Given the description of an element on the screen output the (x, y) to click on. 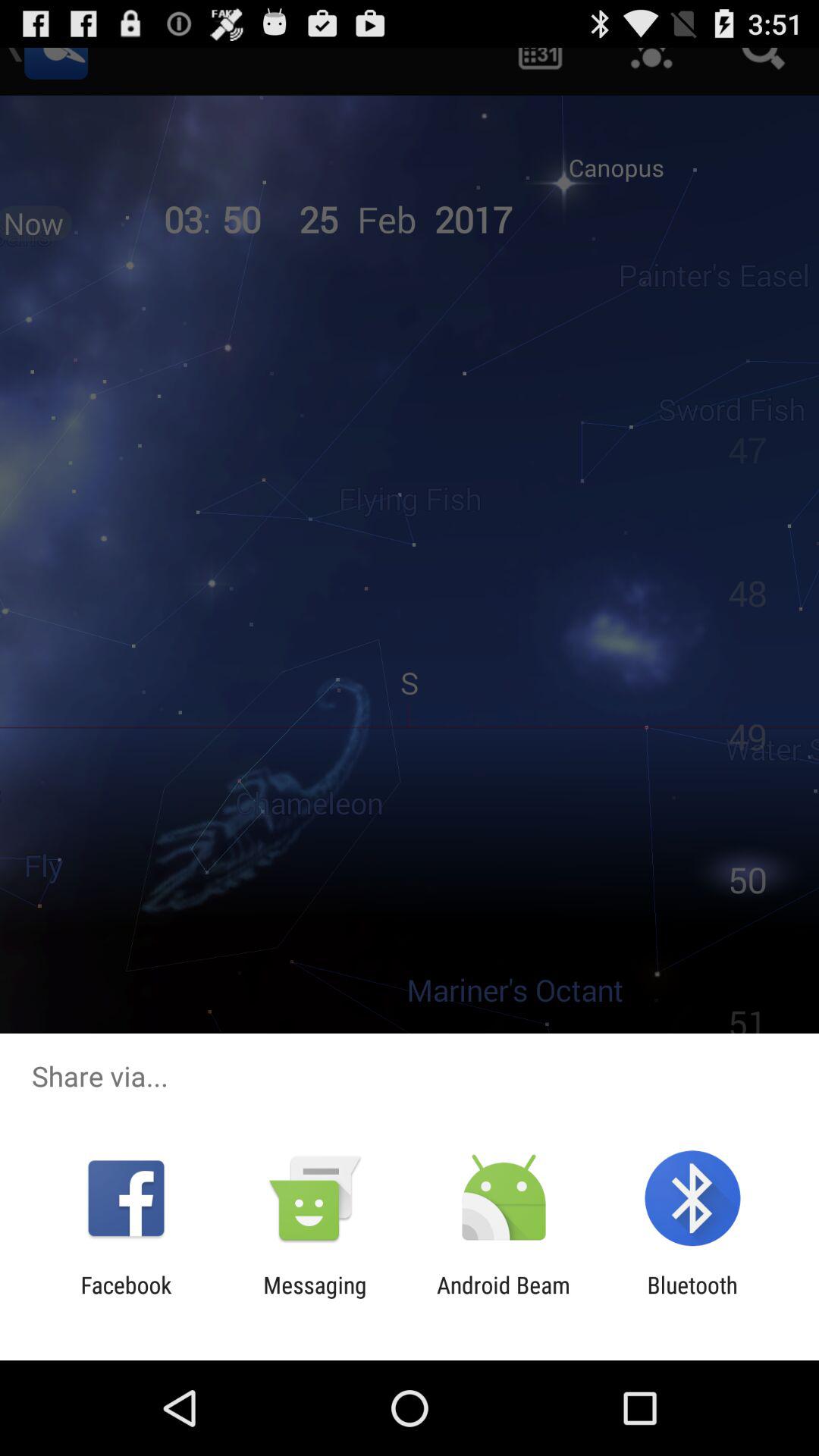
flip until bluetooth item (692, 1298)
